Given the description of an element on the screen output the (x, y) to click on. 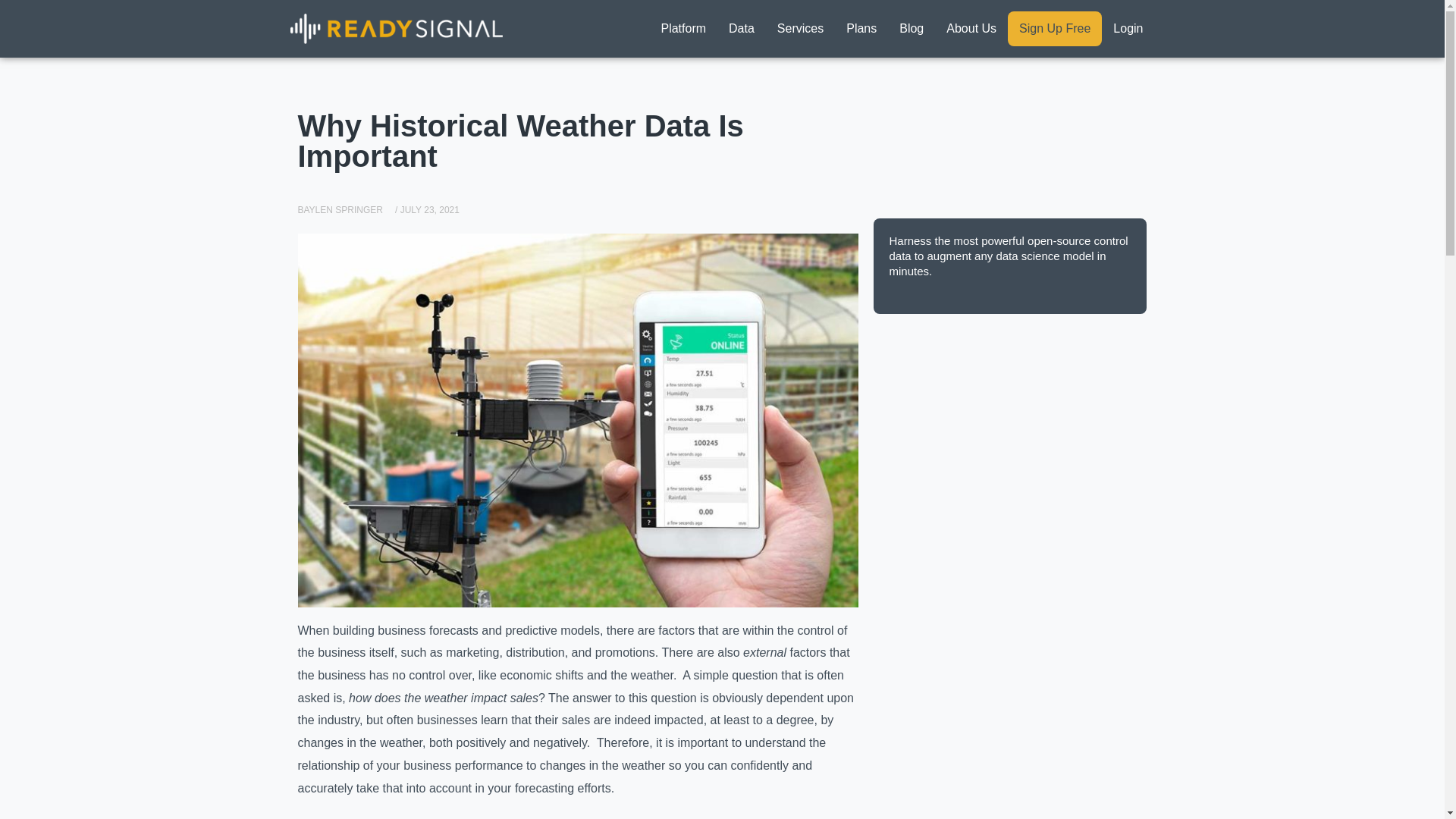
Data (741, 28)
About Us (970, 28)
Services (799, 28)
Plans (861, 28)
Login (1128, 28)
logo (395, 28)
Blog (911, 28)
Platform (683, 28)
Sign Up Free (1054, 28)
